Given the description of an element on the screen output the (x, y) to click on. 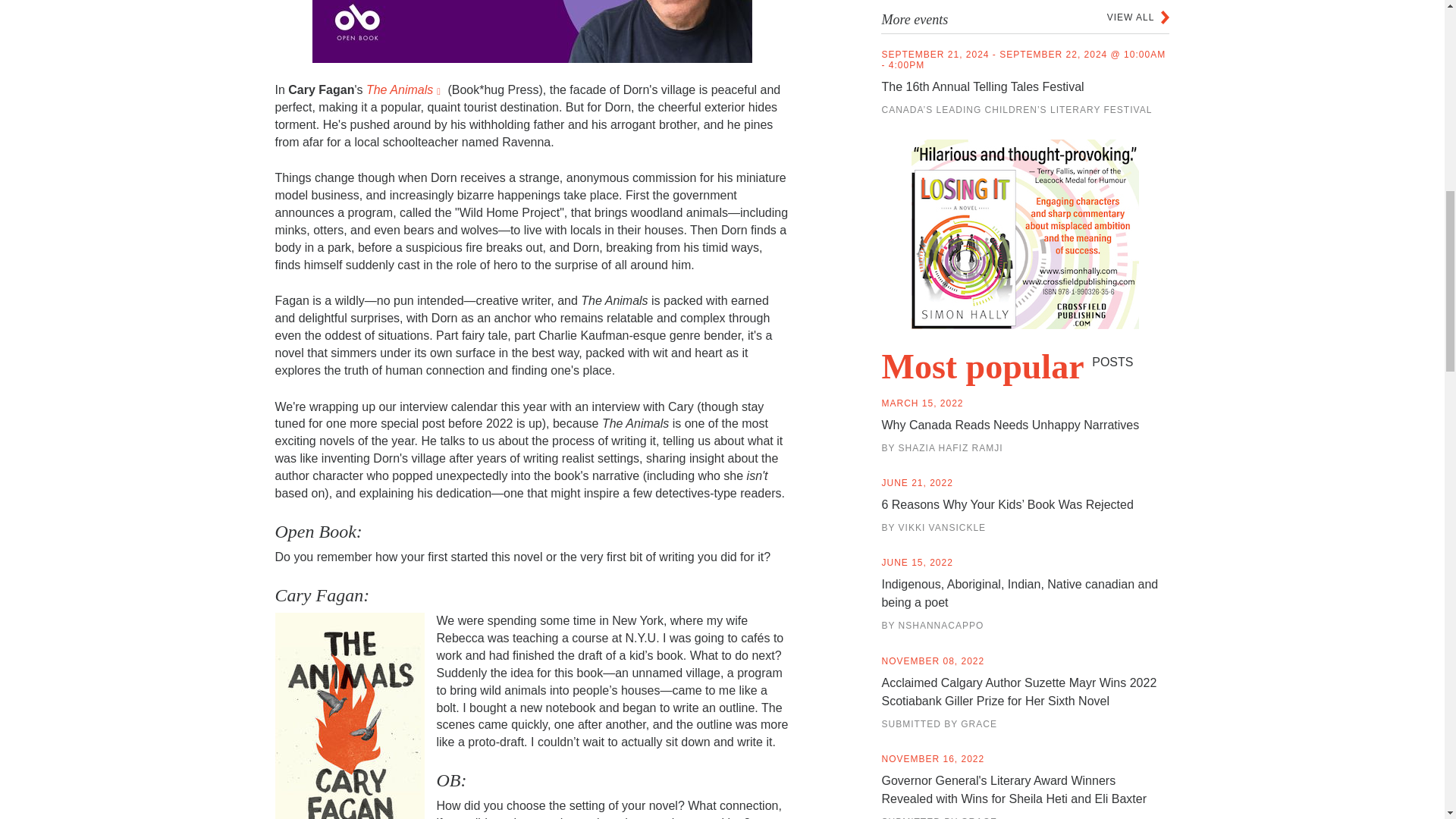
OB Cary Fagan interview banner (532, 31)
The Animals (405, 89)
